Given the description of an element on the screen output the (x, y) to click on. 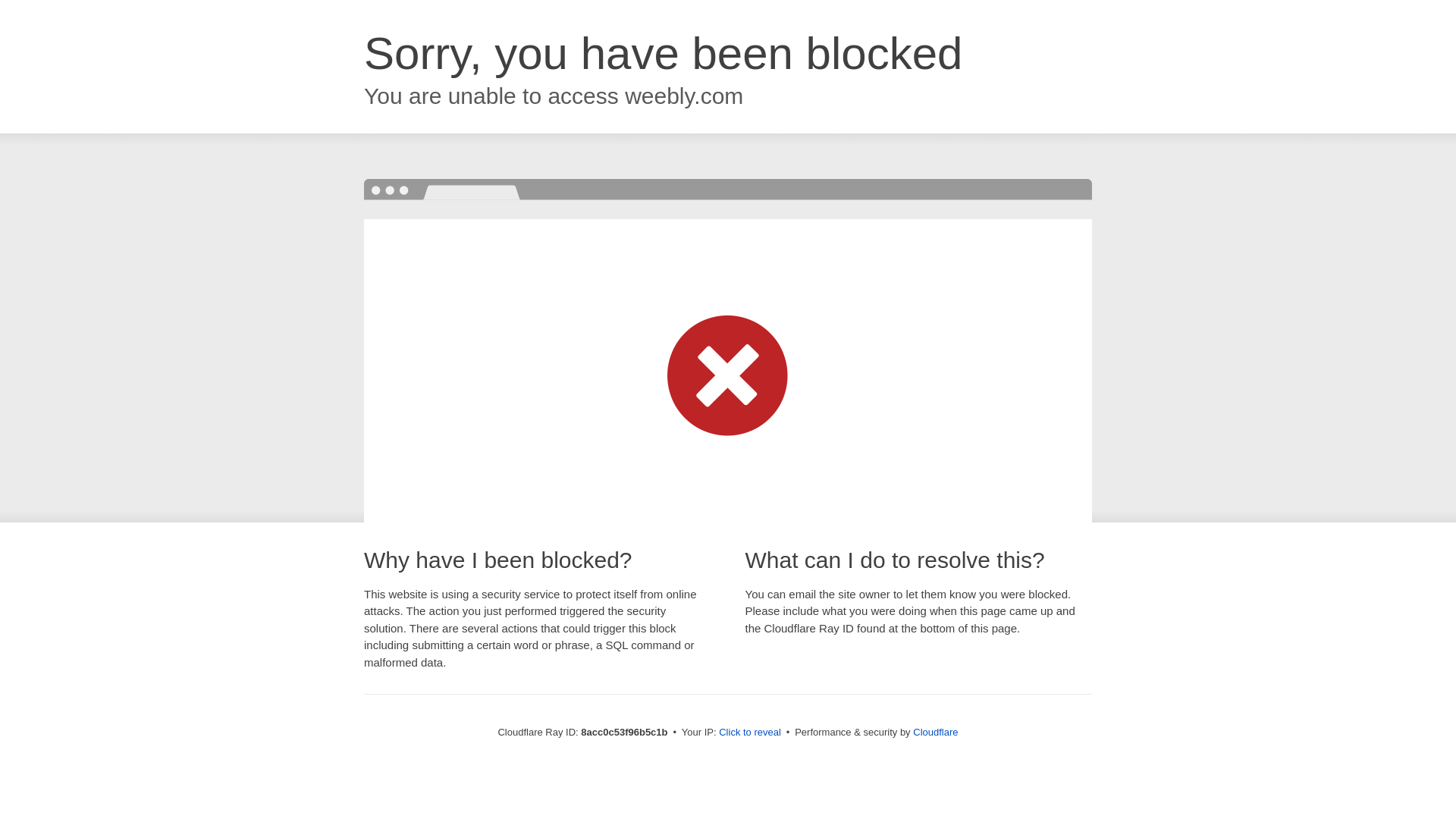
Click to reveal (749, 732)
Cloudflare (935, 731)
